Given the description of an element on the screen output the (x, y) to click on. 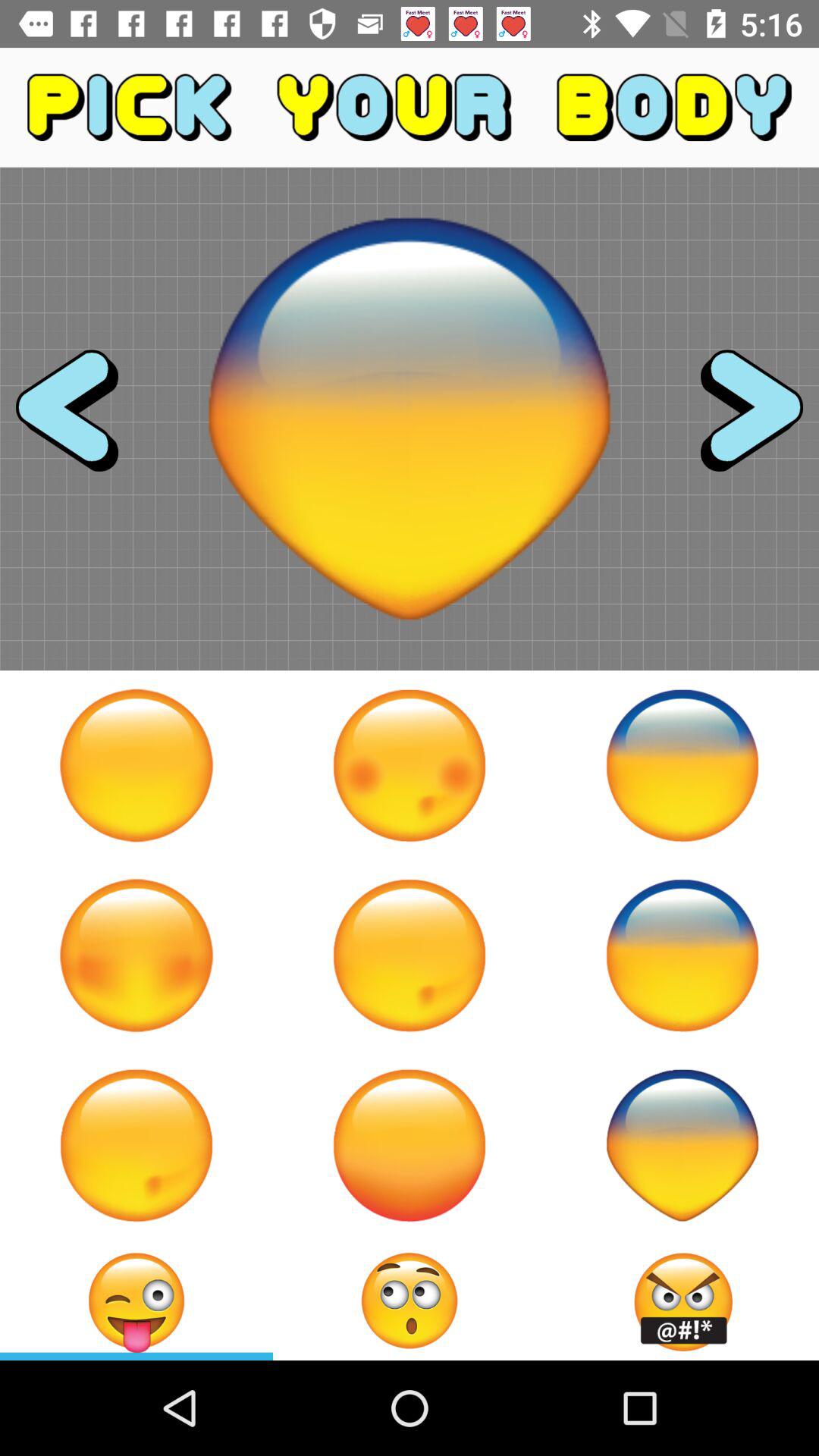
creates an emoji (409, 1300)
